Given the description of an element on the screen output the (x, y) to click on. 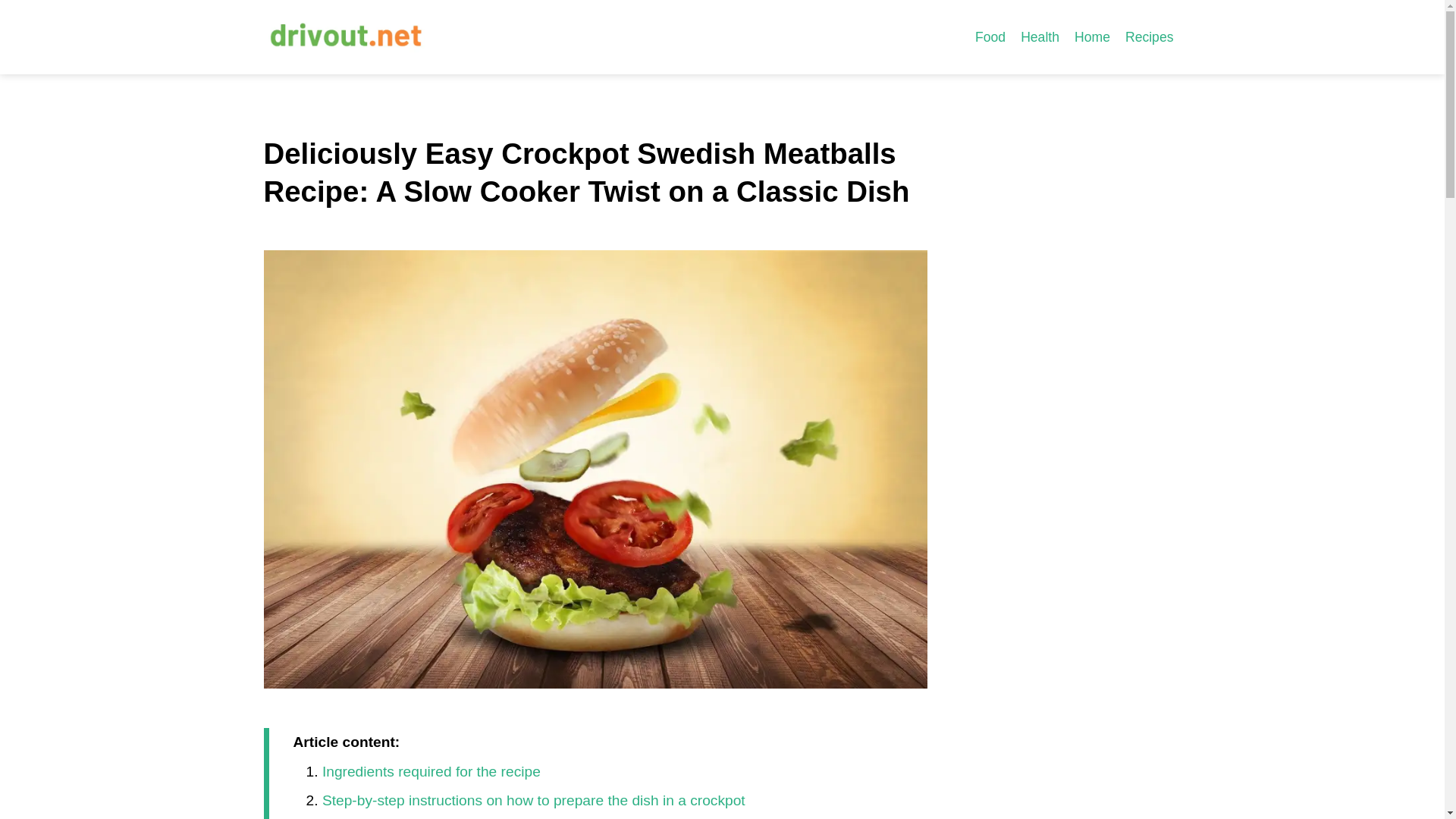
Ingredients required for the recipe (430, 771)
Recipes (1149, 36)
Home (1092, 36)
Health (1040, 36)
Food (990, 36)
